Given the description of an element on the screen output the (x, y) to click on. 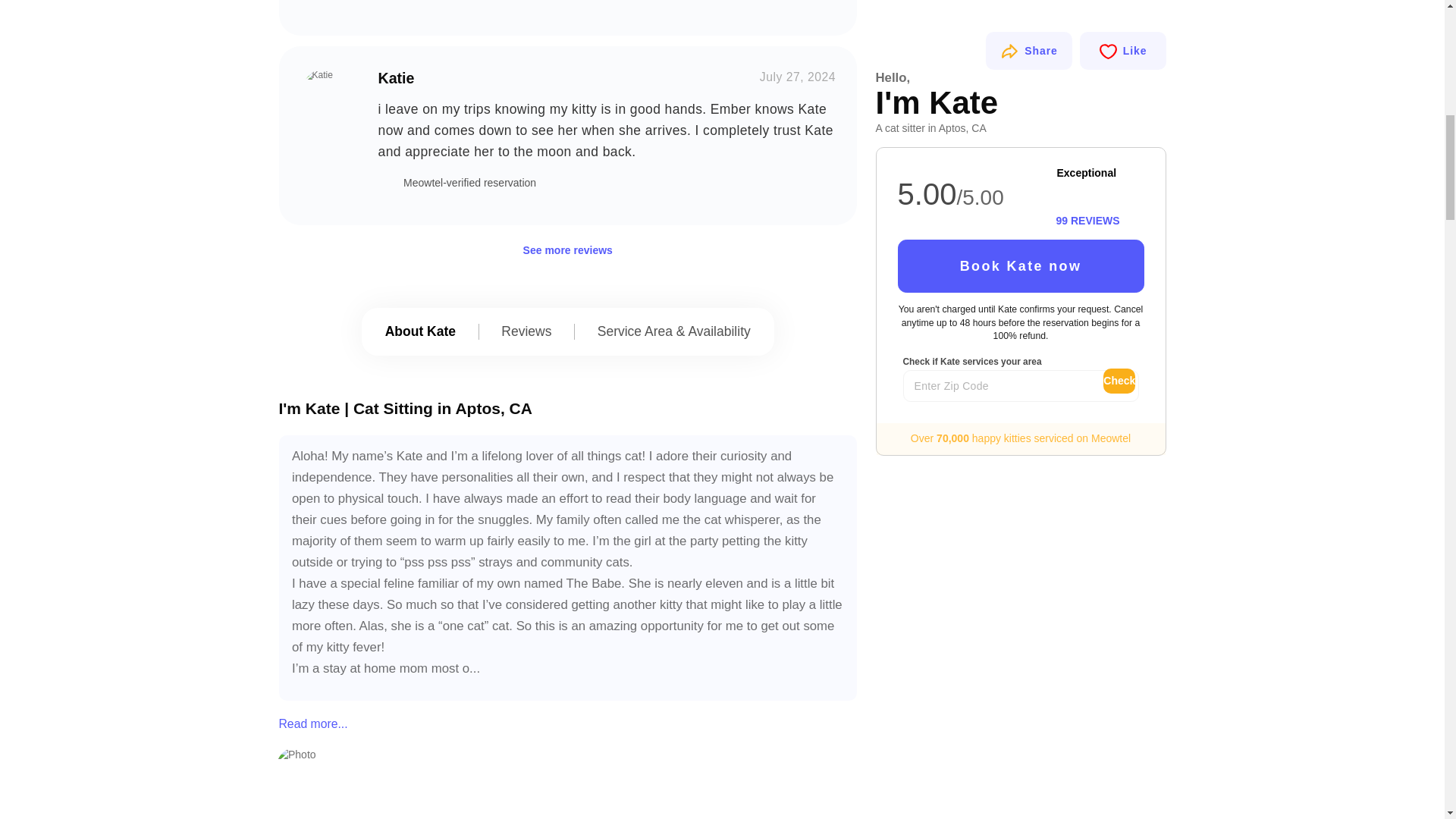
Photo (415, 782)
Reviews (526, 331)
See more reviews (567, 250)
About Kate (420, 331)
Katie (327, 95)
Read more... (351, 723)
